Given the description of an element on the screen output the (x, y) to click on. 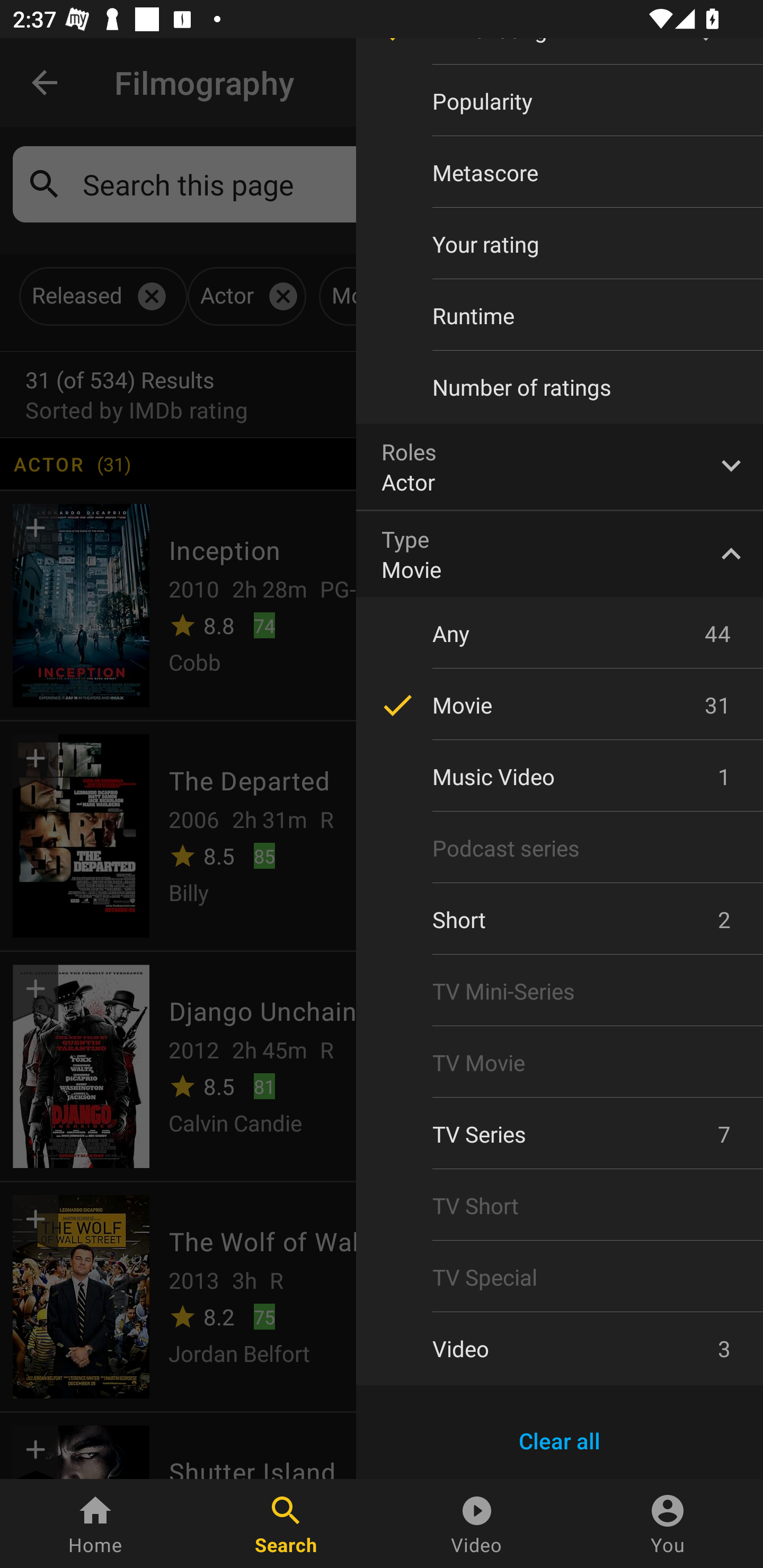
Popularity (559, 100)
Metascore (559, 171)
Your rating (559, 243)
Runtime (559, 315)
Number of ratings (559, 386)
Roles Actor (559, 466)
Type Movie (559, 554)
Any 44 (559, 632)
Movie 31 (559, 704)
Music Video 1 (559, 776)
Podcast series (559, 847)
Short 2 (559, 919)
TV Mini-Series (559, 990)
TV Movie (559, 1062)
TV Series 7 (559, 1134)
TV Short (559, 1205)
TV Special (559, 1276)
Video 3 (559, 1347)
Clear all (559, 1440)
Home (95, 1523)
Video (476, 1523)
You (667, 1523)
